Given the description of an element on the screen output the (x, y) to click on. 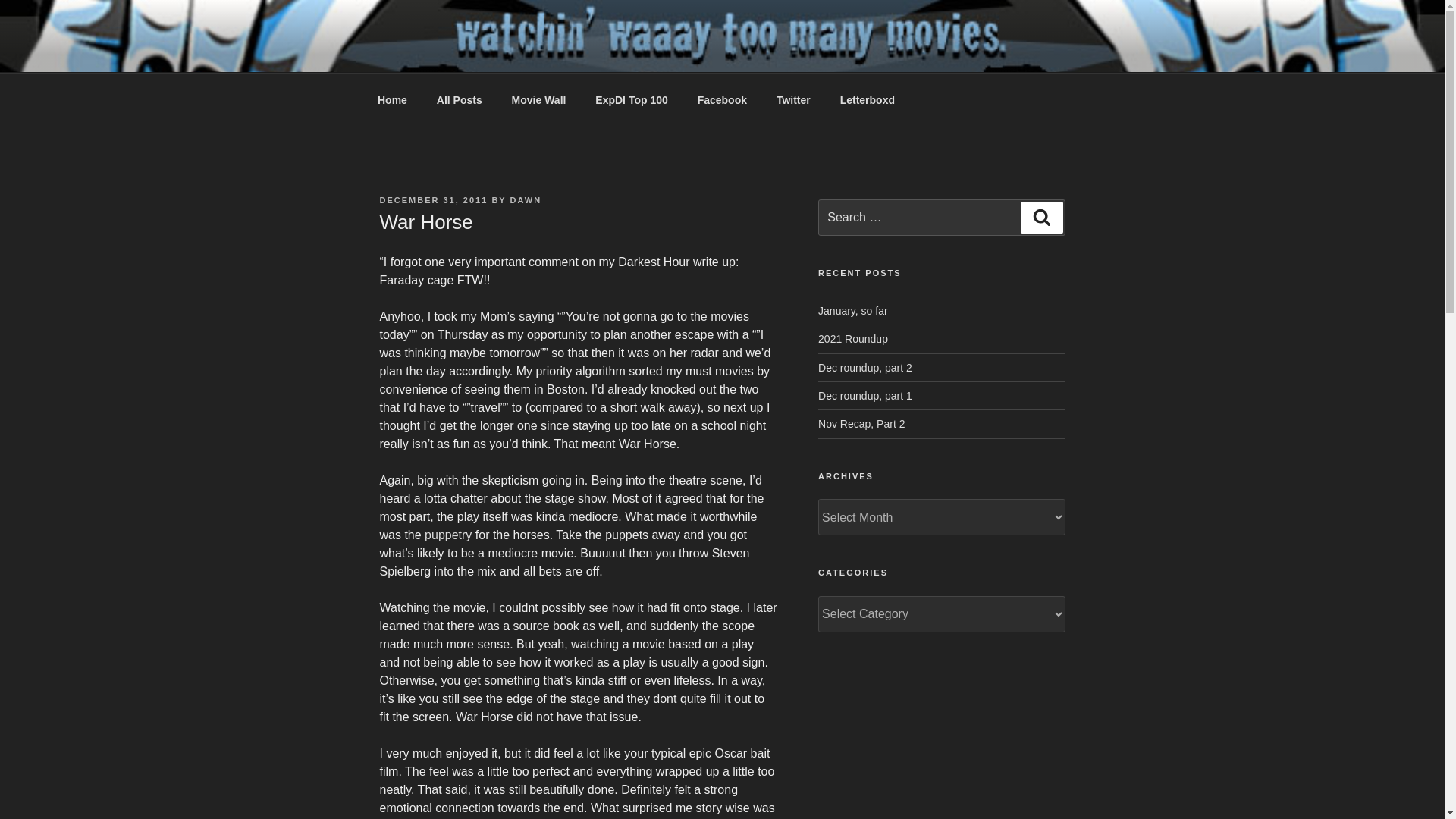
Search (1041, 217)
Nov Recap, Part 2 (861, 423)
Dec roundup, part 2 (865, 367)
Letterboxd (867, 99)
Movie Wall (538, 99)
Facebook (722, 99)
EXPLETIVE DLETED (529, 52)
DECEMBER 31, 2011 (432, 199)
Dec roundup, part 1 (865, 395)
Twitter (793, 99)
ExpDl Top 100 (631, 99)
puppetry (448, 534)
All Posts (459, 99)
DAWN (526, 199)
2021 Roundup (853, 338)
